Given the description of an element on the screen output the (x, y) to click on. 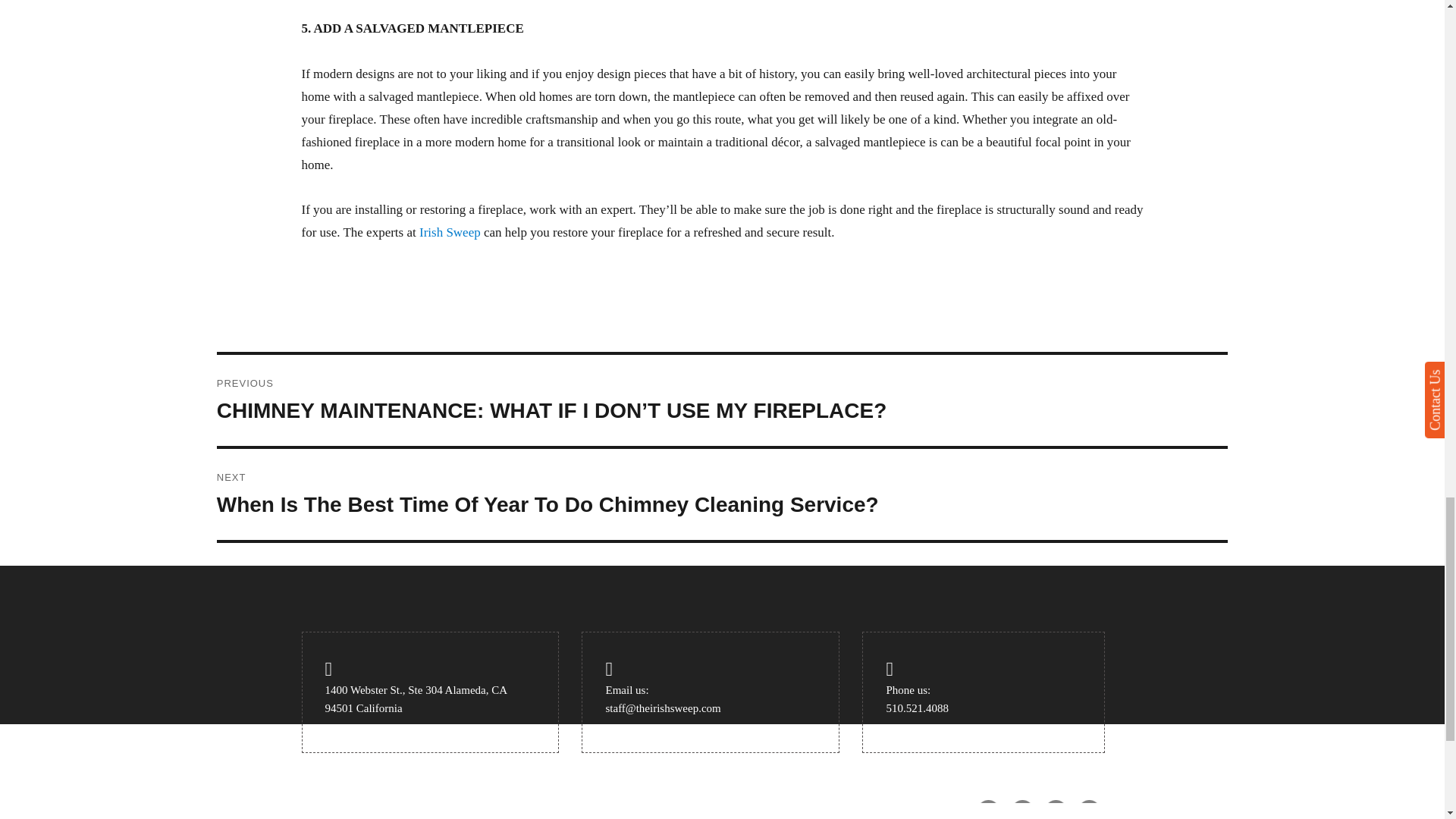
Irish Sweep (449, 232)
